Given the description of an element on the screen output the (x, y) to click on. 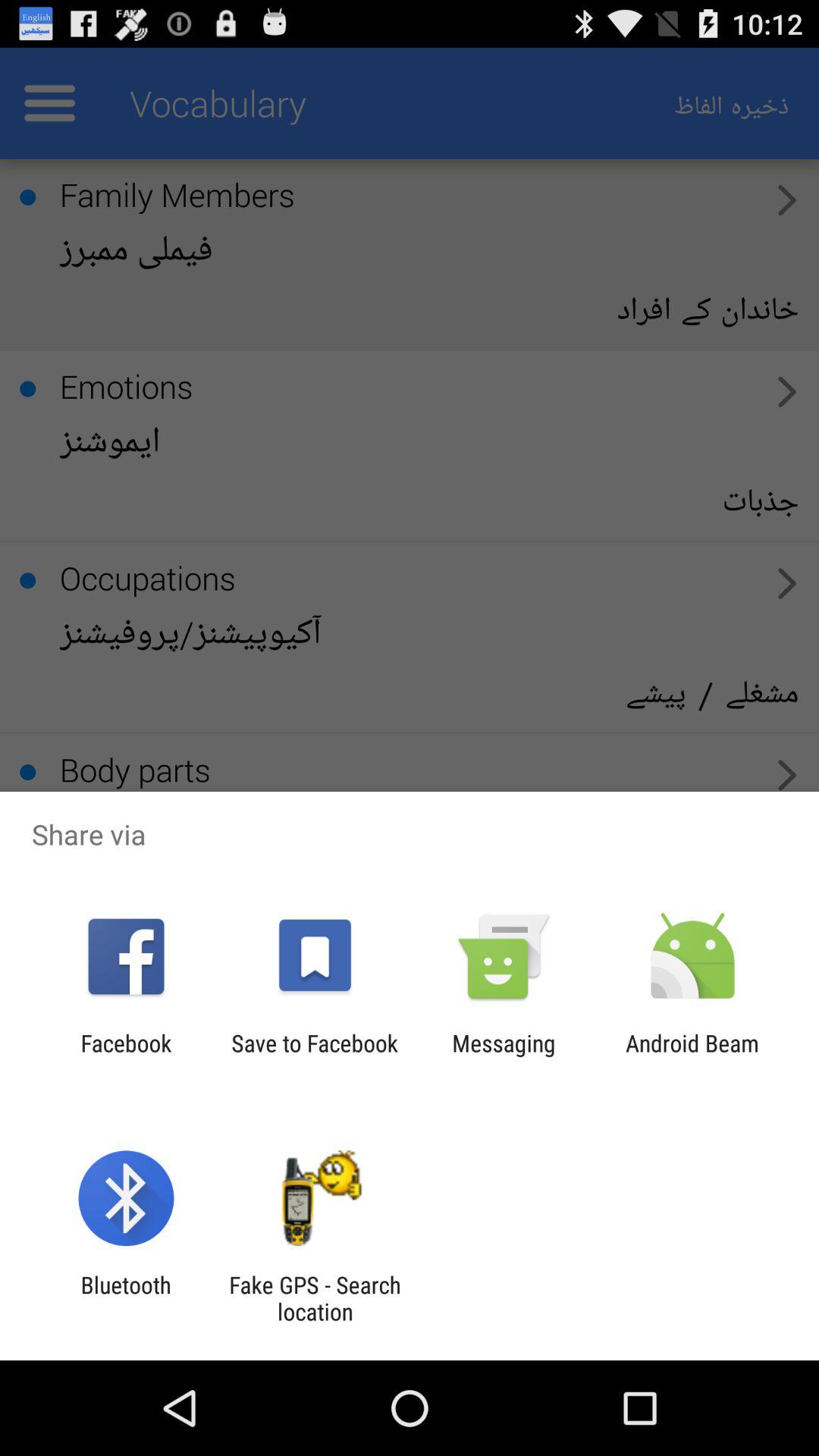
turn off the bluetooth (125, 1298)
